Given the description of an element on the screen output the (x, y) to click on. 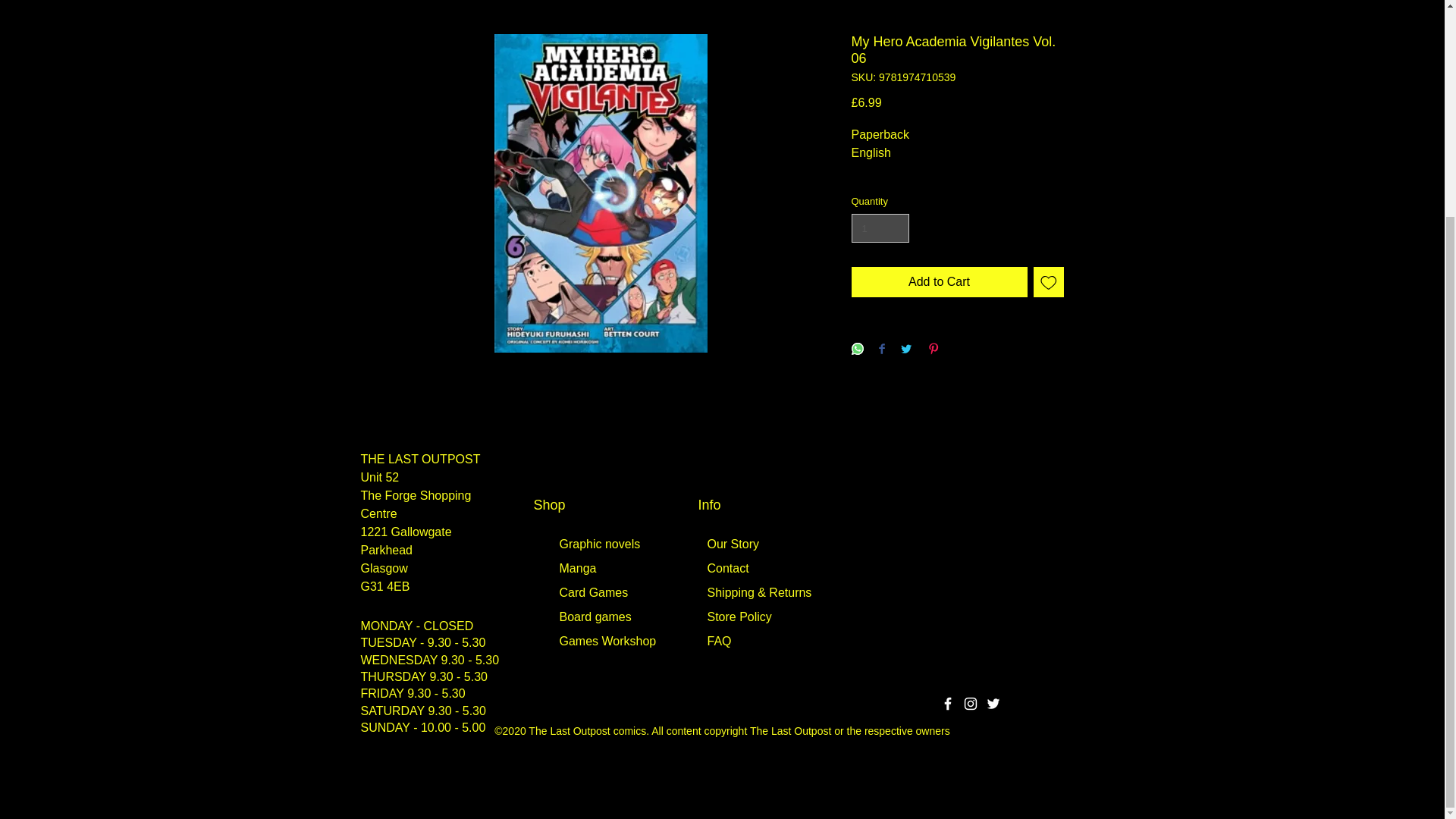
1 (879, 227)
